Given the description of an element on the screen output the (x, y) to click on. 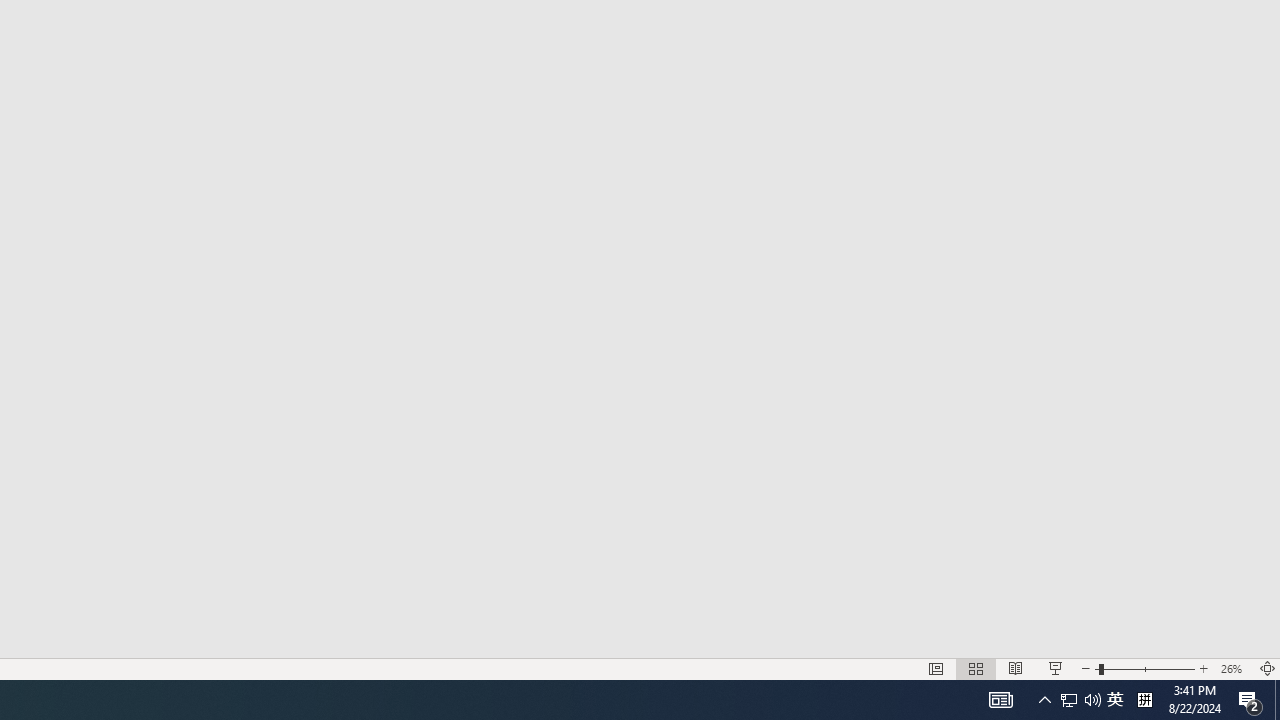
Zoom 26% (1234, 668)
